Given the description of an element on the screen output the (x, y) to click on. 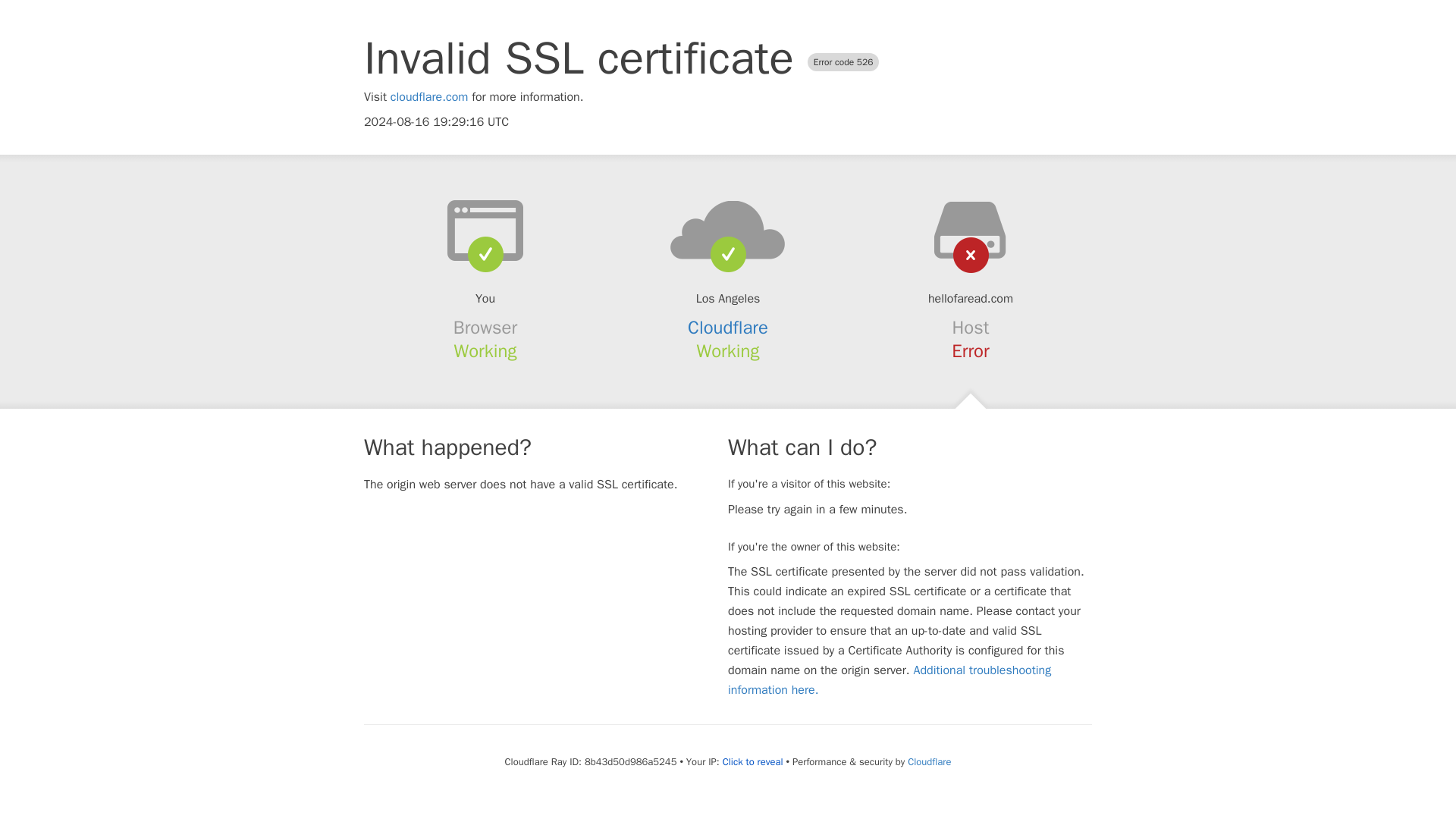
Cloudflare (727, 327)
Click to reveal (752, 762)
cloudflare.com (429, 96)
Cloudflare (928, 761)
Additional troubleshooting information here. (889, 679)
